Given the description of an element on the screen output the (x, y) to click on. 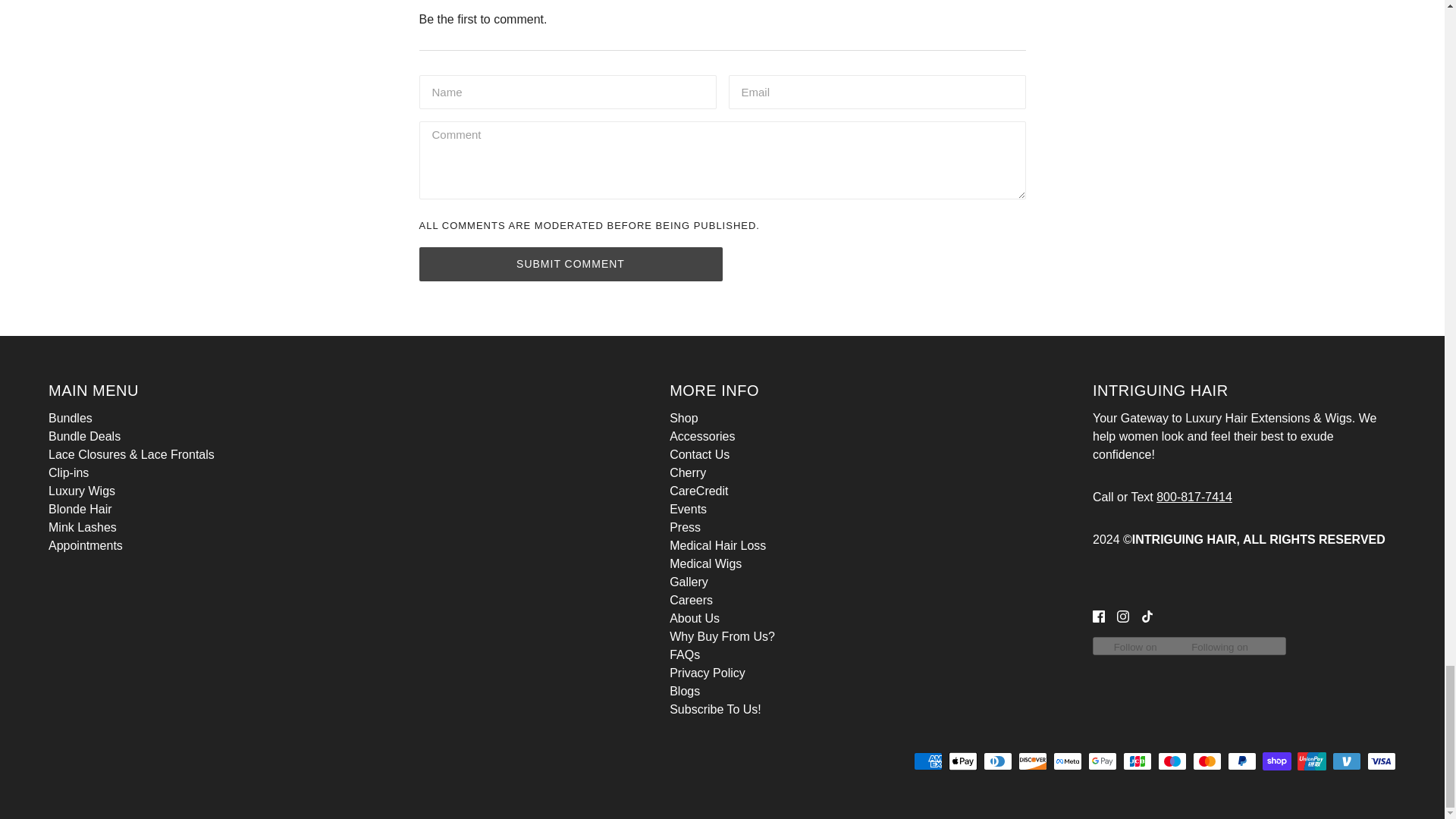
Medical Wigs (705, 563)
Cherry (687, 472)
Accessories (702, 436)
Blonde Hair (80, 508)
Press (684, 526)
Bundle Deals (84, 436)
Appointments (85, 545)
Mink Lashes (82, 526)
Contact Us (699, 454)
Clip-ins (68, 472)
Events (687, 508)
Bundles (70, 418)
Luxury Wigs (81, 490)
Medical Hair Loss (717, 545)
Shop (683, 418)
